Given the description of an element on the screen output the (x, y) to click on. 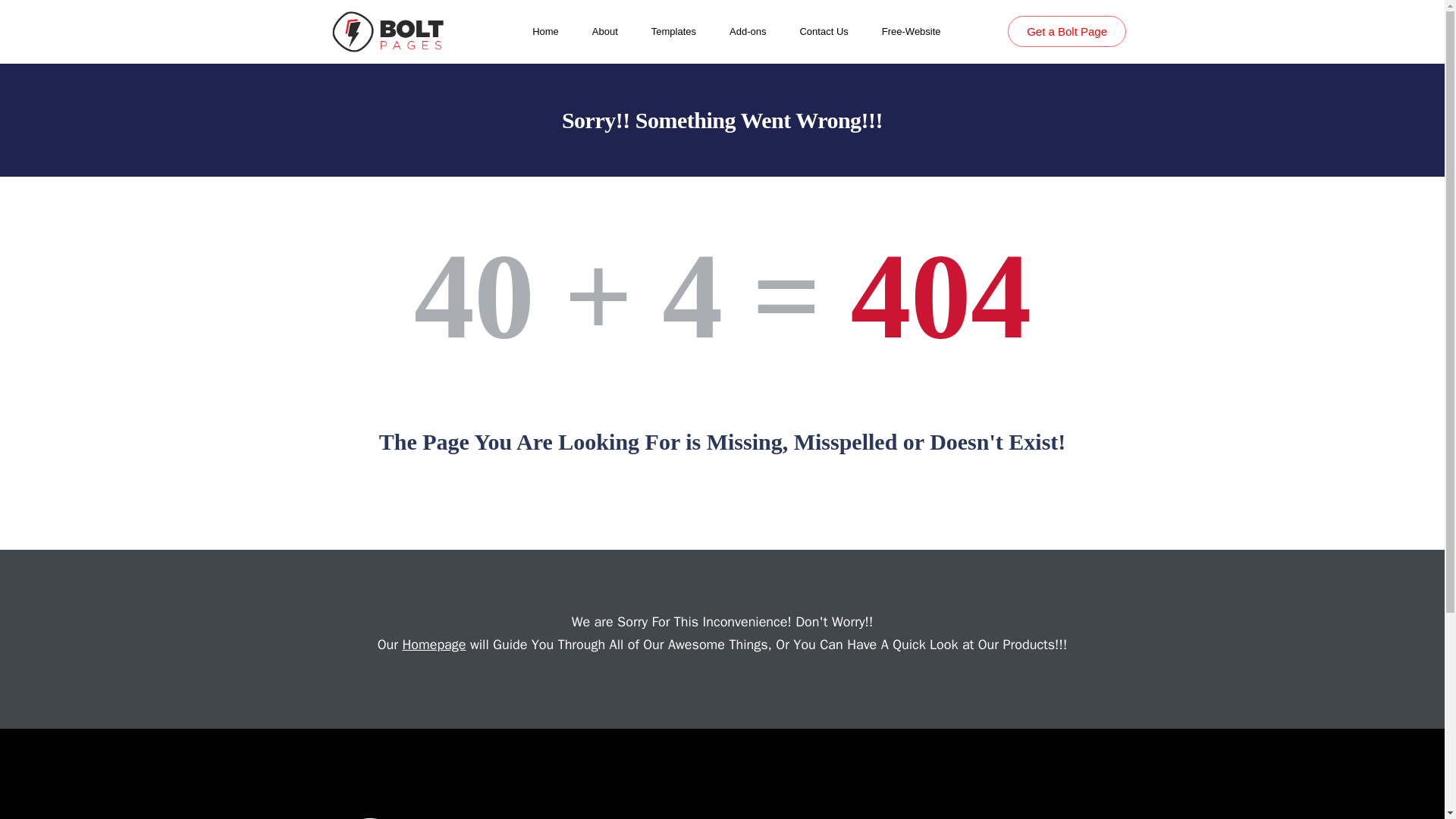
Get a Bolt Page (1066, 30)
Free-Website (911, 31)
Homepage (433, 644)
Add-ons (747, 31)
Contact Us (823, 31)
Templates (672, 31)
Home (545, 31)
About (604, 31)
